Given the description of an element on the screen output the (x, y) to click on. 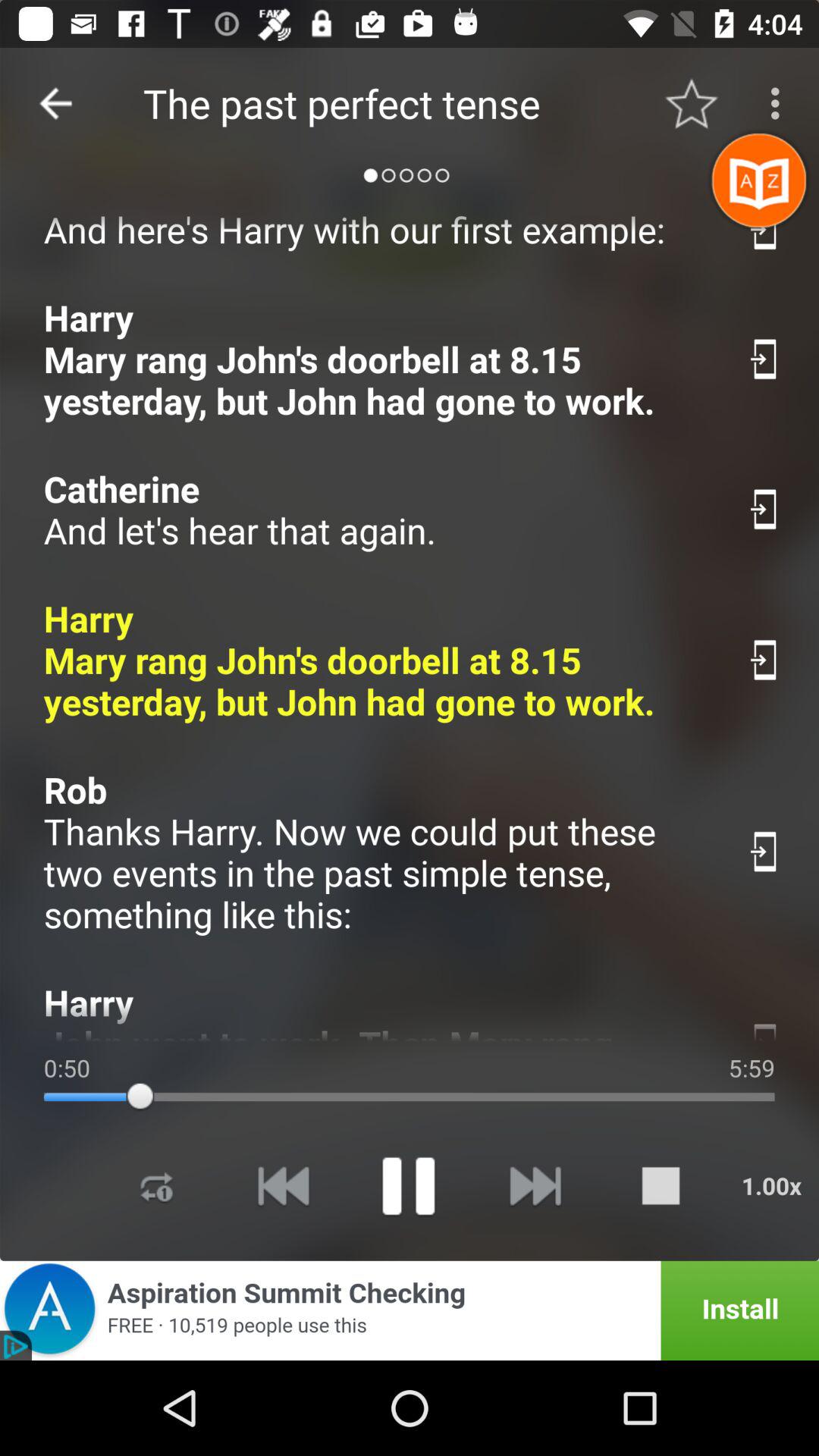
go to article related to the section (765, 229)
